Given the description of an element on the screen output the (x, y) to click on. 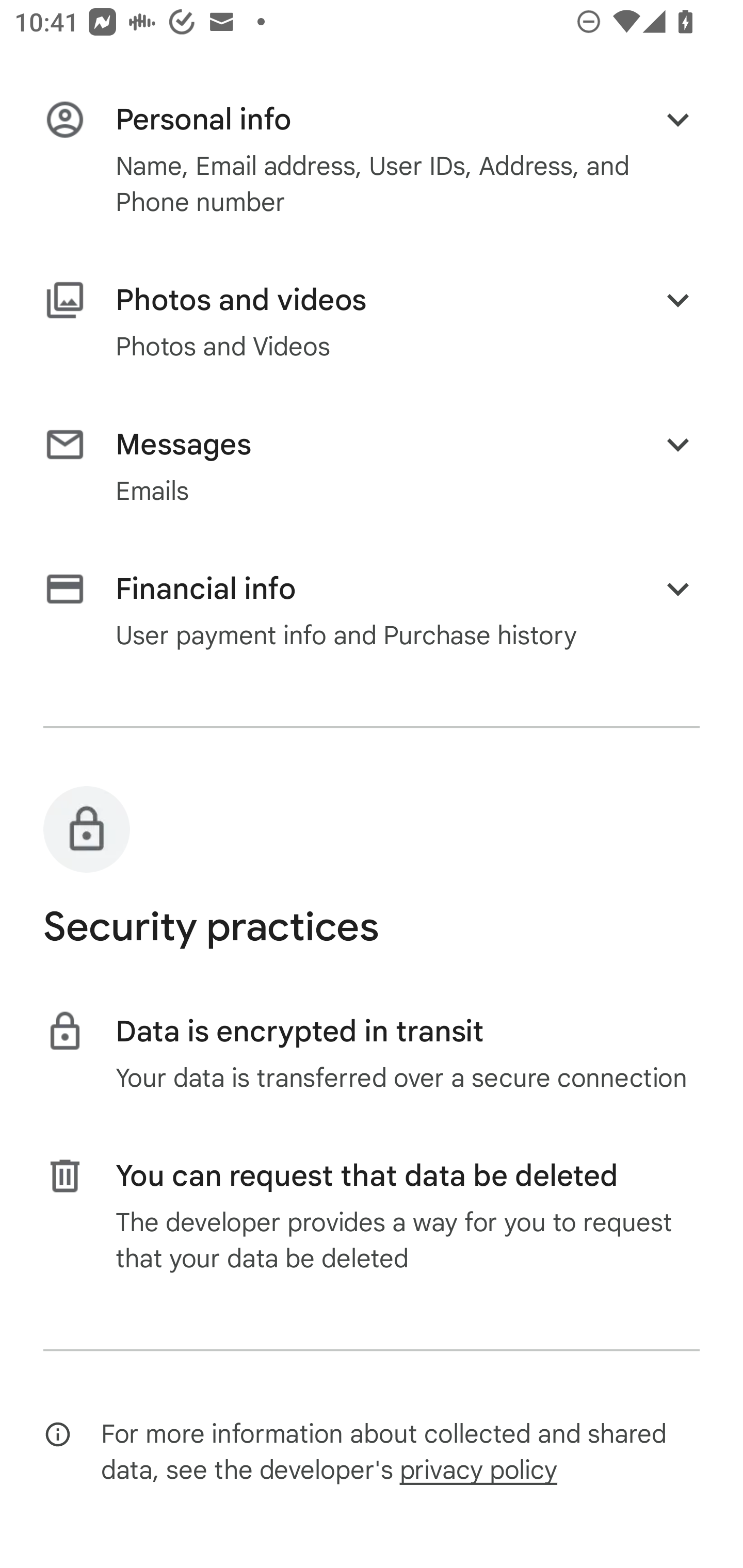
heading Messages Emails Expand button (371, 466)
